Given the description of an element on the screen output the (x, y) to click on. 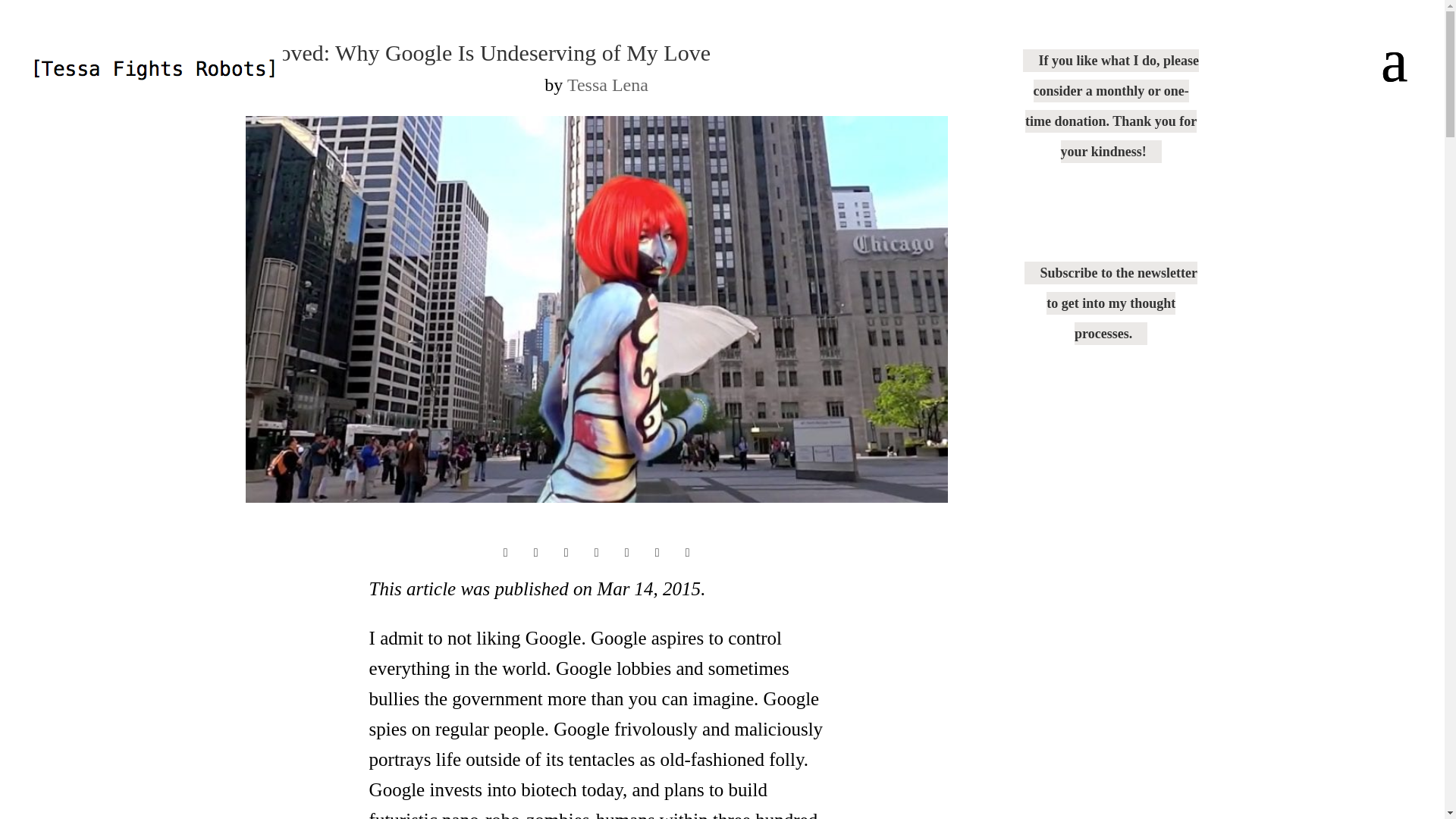
Tessa Lena (607, 85)
Posts by Tessa Lena (607, 85)
